Given the description of an element on the screen output the (x, y) to click on. 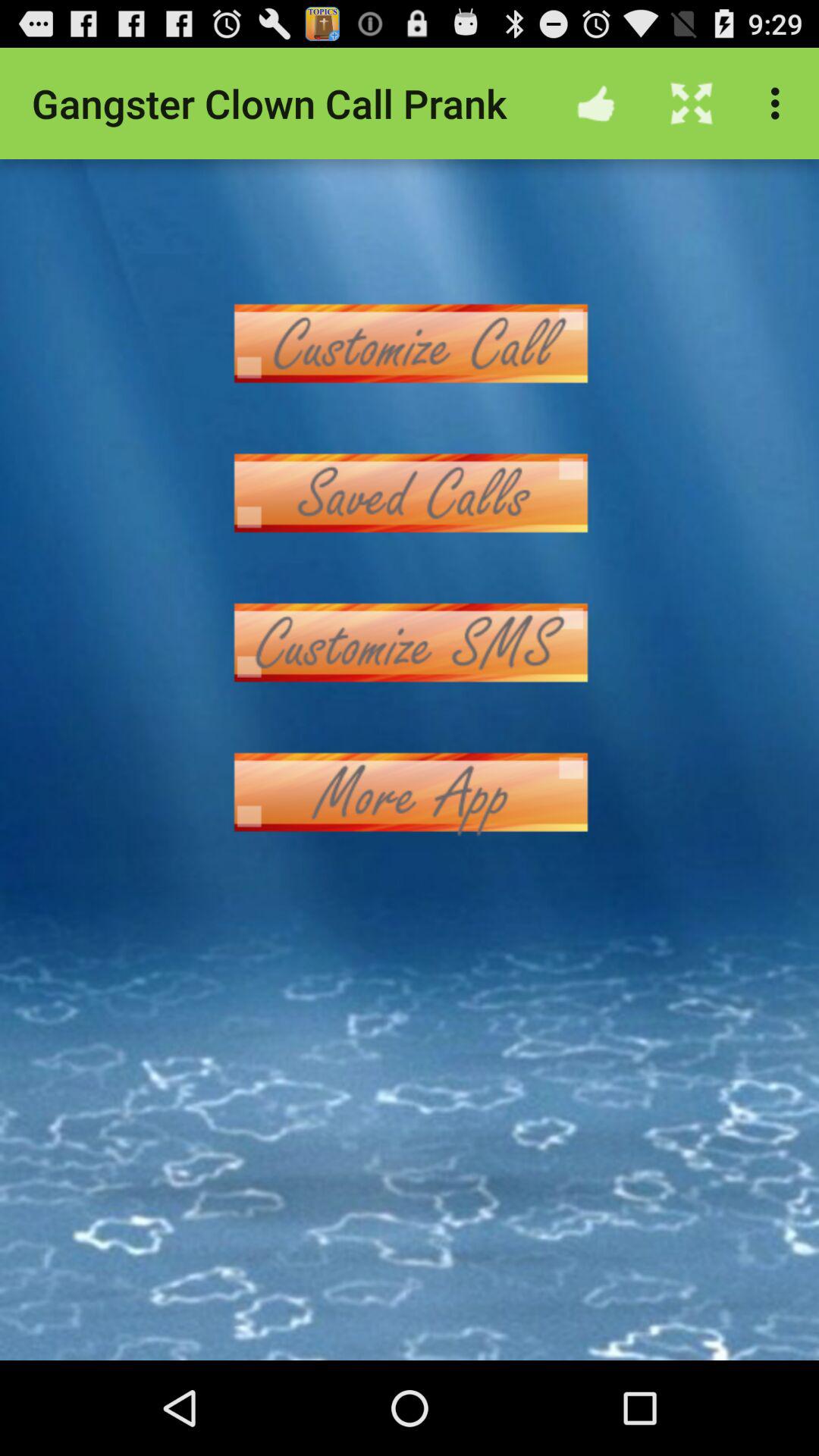
select button (409, 343)
